Given the description of an element on the screen output the (x, y) to click on. 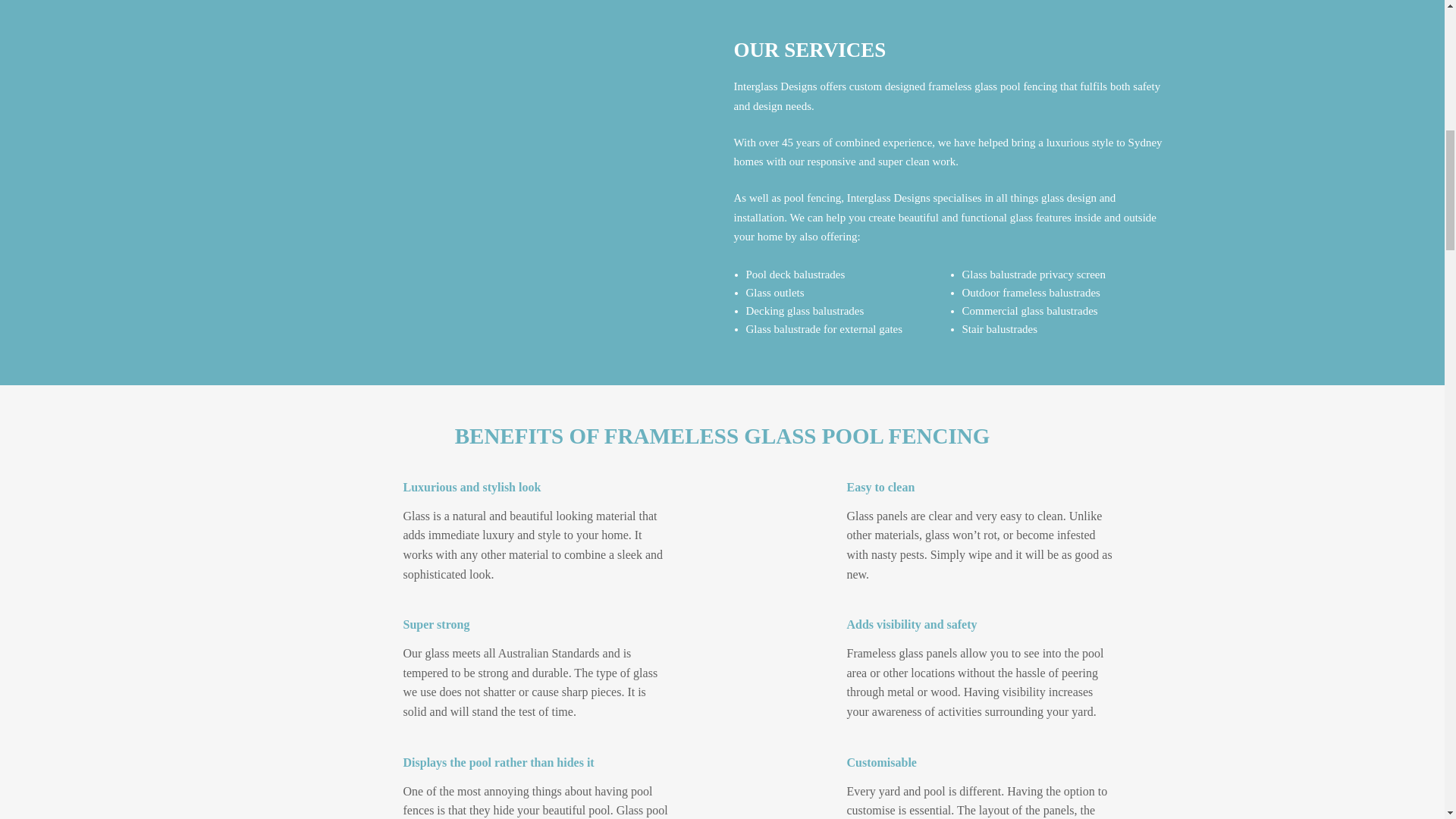
Customisable (794, 802)
Adds visibility and safety (794, 678)
Displays the pool rather than hides it (351, 802)
Easy to clean (794, 540)
Super strong (351, 678)
Luxurious and stylish look (351, 540)
